Given the description of an element on the screen output the (x, y) to click on. 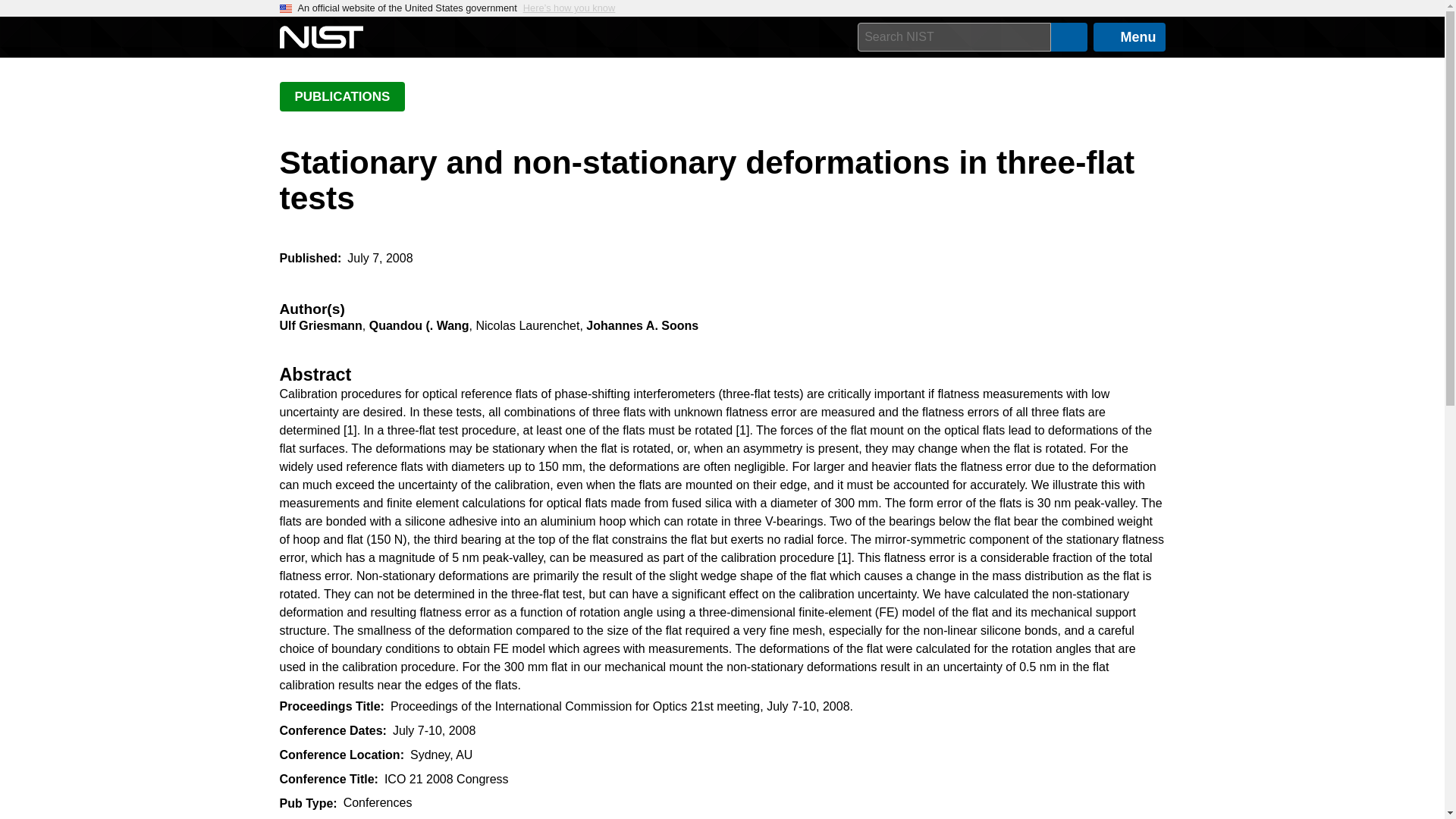
PUBLICATIONS (341, 96)
National Institute of Standards and Technology (320, 36)
Menu (1129, 36)
